Given the description of an element on the screen output the (x, y) to click on. 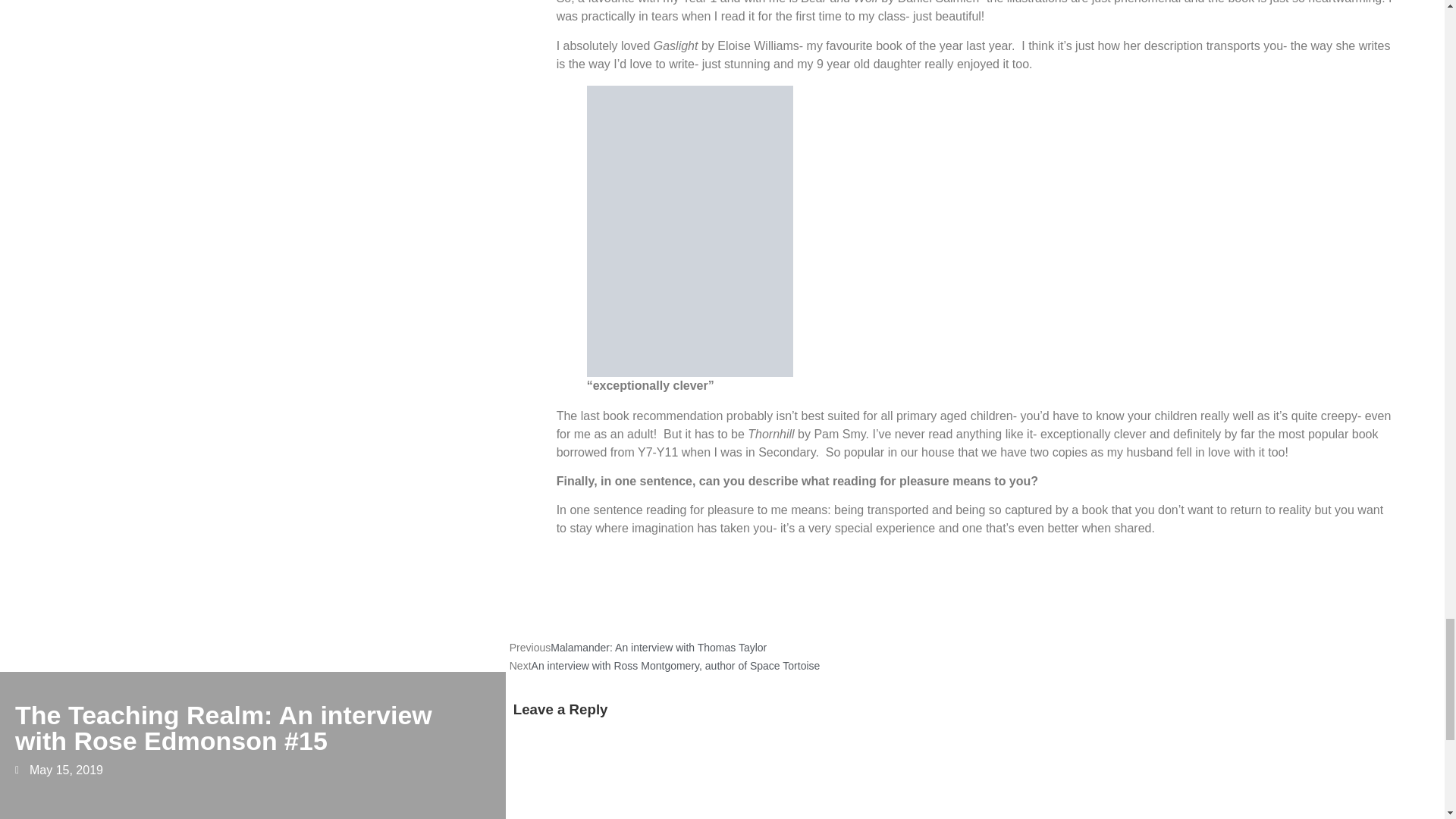
PreviousMalamander: An interview with Thomas Taylor (638, 646)
Comment Form (975, 776)
